Given the description of an element on the screen output the (x, y) to click on. 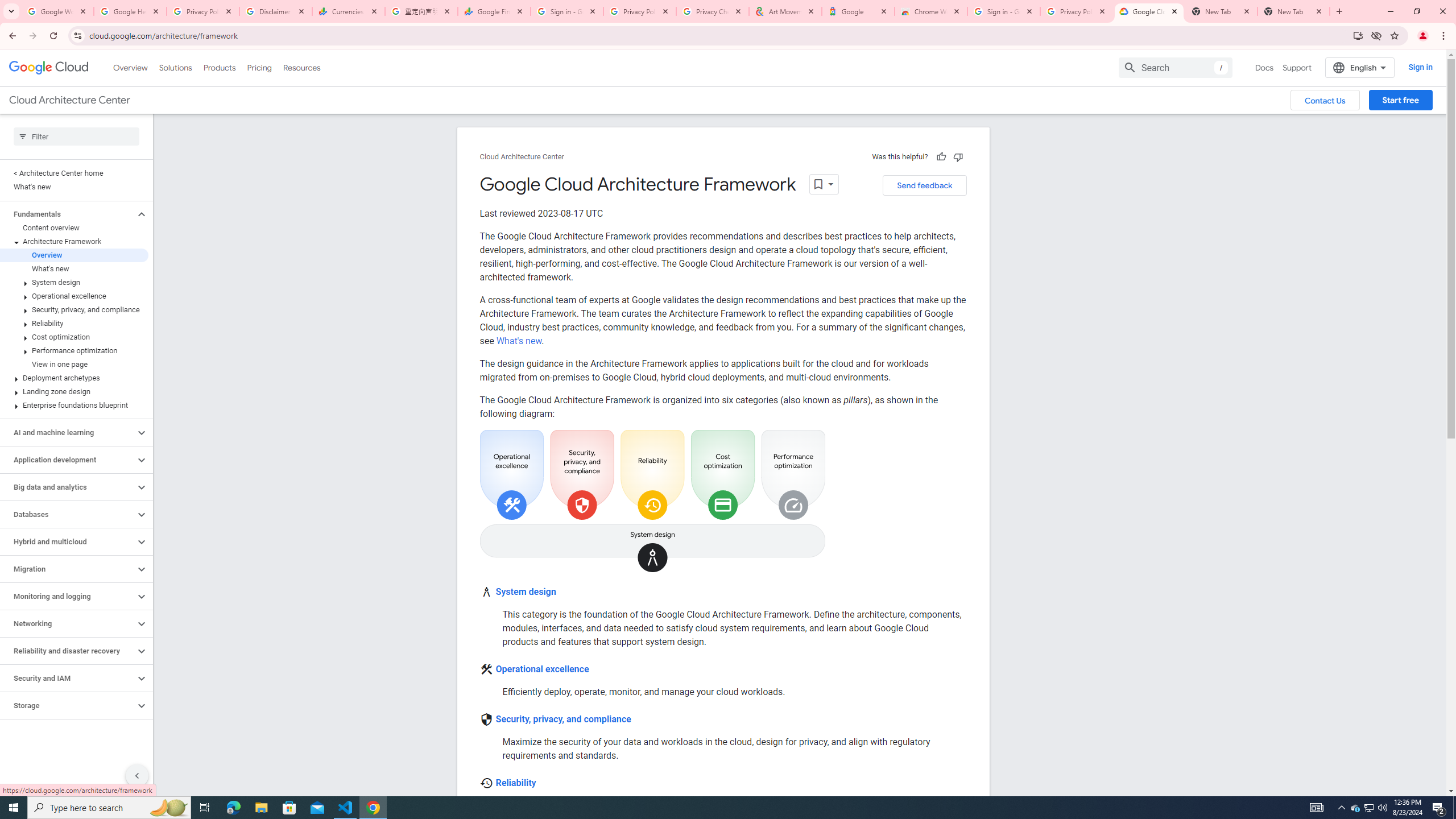
Operational excellence (542, 668)
Security, privacy, and compliance (563, 719)
Google Workspace Admin Community (57, 11)
AI and machine learning (67, 432)
Products (218, 67)
Cloud Architecture Center (521, 156)
Privacy Checkup (712, 11)
Hybrid and multicloud (67, 541)
Storage (67, 705)
Enterprise foundations blueprint (74, 404)
Chrome Web Store - Color themes by Chrome (930, 11)
